Given the description of an element on the screen output the (x, y) to click on. 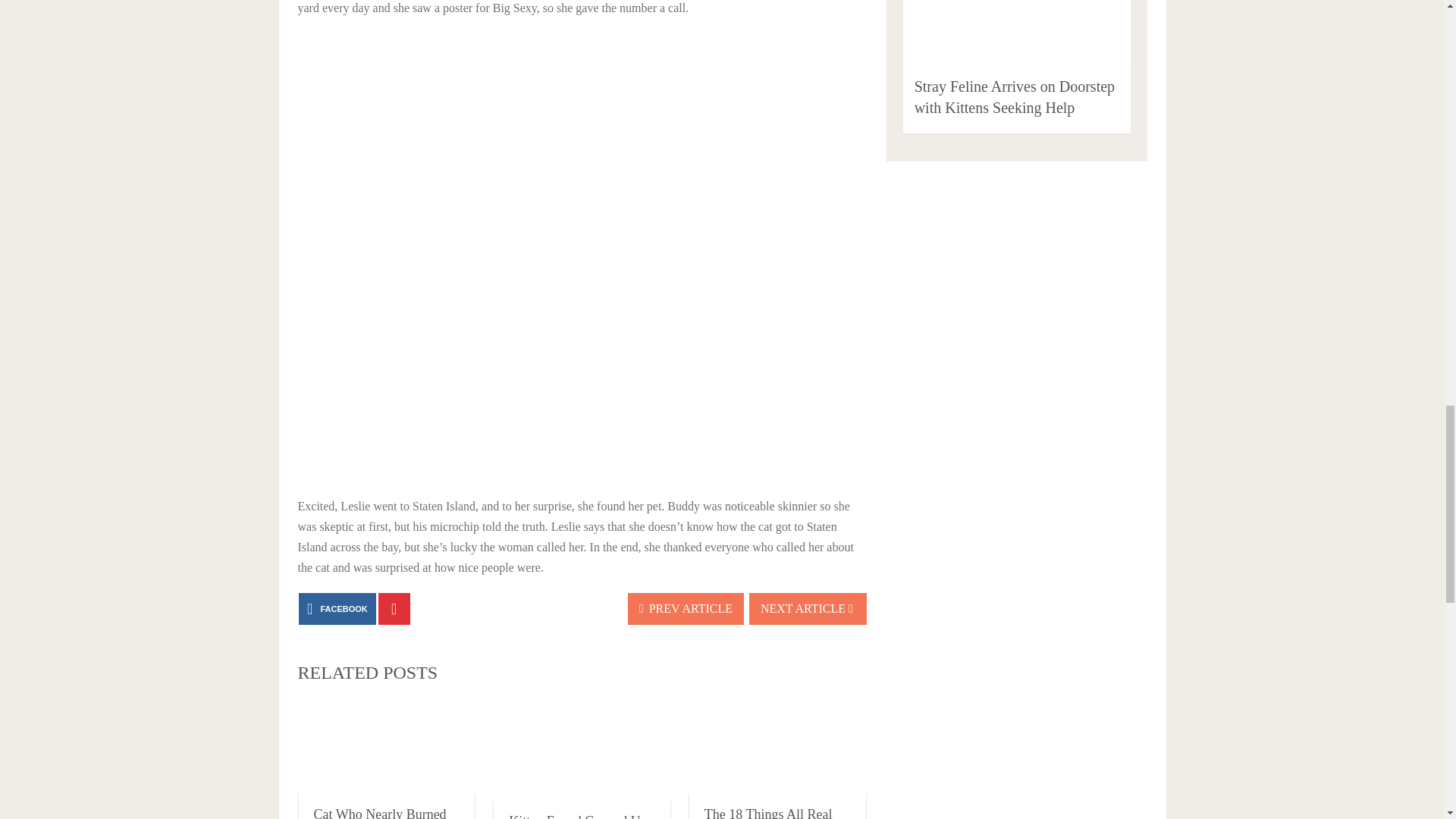
The 18 Things All Real Cat Lovers Know To Be True (777, 747)
PREV ARTICLE (685, 608)
FACEBOOK (336, 608)
The 18 Things All Real Cat Lovers Know To Be True (770, 812)
Kitten Found Cooped Up and Cuddling Up to Chickens! (577, 816)
The 18 Things All Real Cat Lovers Know To Be True (770, 812)
NEXT ARTICLE (807, 608)
Kitten Found Cooped Up and Cuddling Up to Chickens! (577, 816)
Kitten Found Cooped Up and Cuddling Up to Chickens! (582, 750)
